Given the description of an element on the screen output the (x, y) to click on. 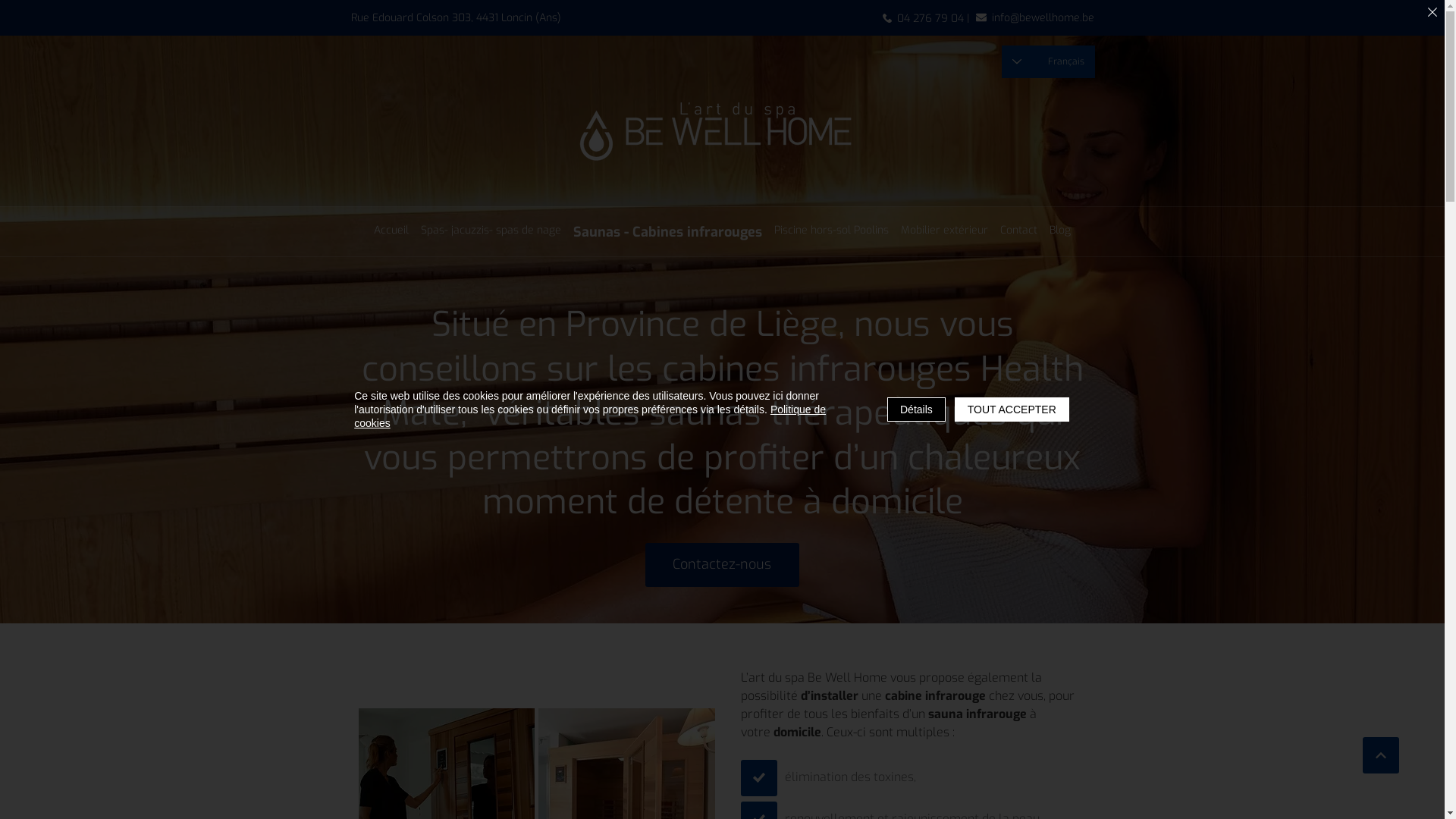
info@bewellhome.be Element type: text (1034, 17)
Piscine hors-sol Poolins Element type: text (831, 229)
Accueil Element type: text (390, 229)
Saunas - Cabines infrarouges Element type: text (667, 232)
Contactez-nous Element type: text (721, 564)
TOUT ACCEPTER Element type: text (1011, 409)
Blog Element type: text (1059, 229)
04 276 79 04 | Element type: text (928, 17)
Contact Element type: text (1018, 229)
Politique de cookies Element type: text (589, 416)
Spas- jacuzzis- spas de nage Element type: text (490, 229)
